Given the description of an element on the screen output the (x, y) to click on. 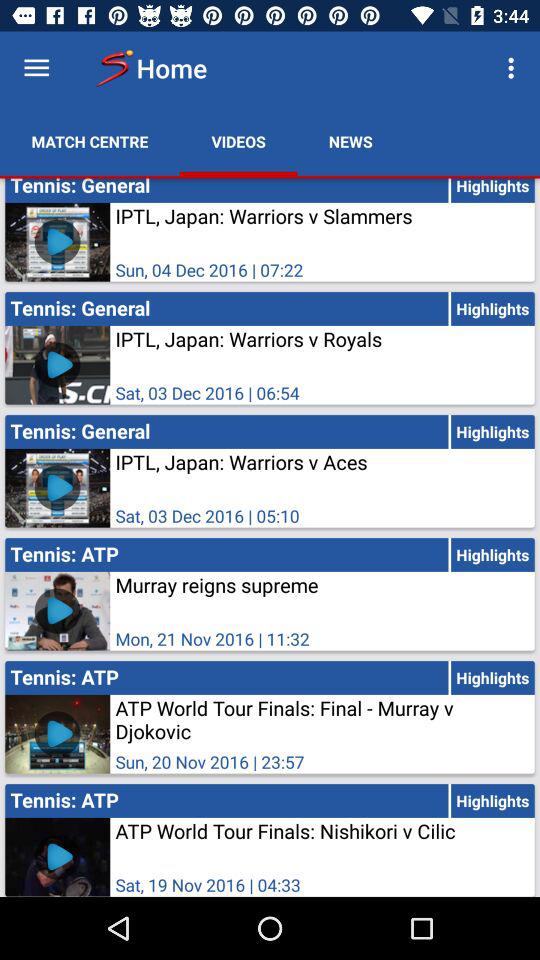
select the icon above the match centre (36, 68)
